Given the description of an element on the screen output the (x, y) to click on. 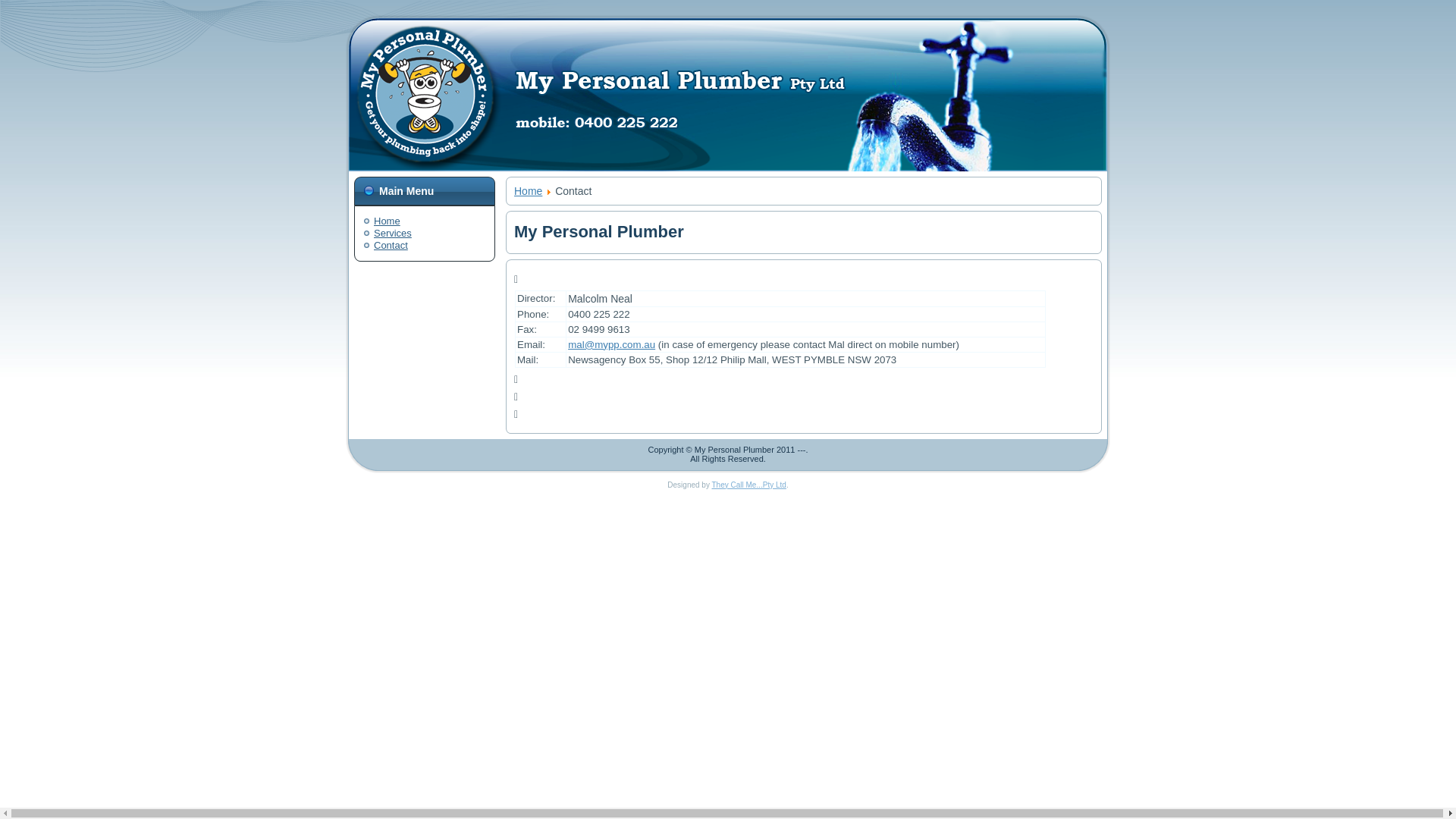
They Call Me...Pty Ltd Element type: text (749, 484)
mal@mypp.com.au Element type: text (611, 344)
Services Element type: text (392, 232)
Contact Element type: text (390, 245)
Home Element type: text (528, 191)
Home Element type: text (386, 220)
